Given the description of an element on the screen output the (x, y) to click on. 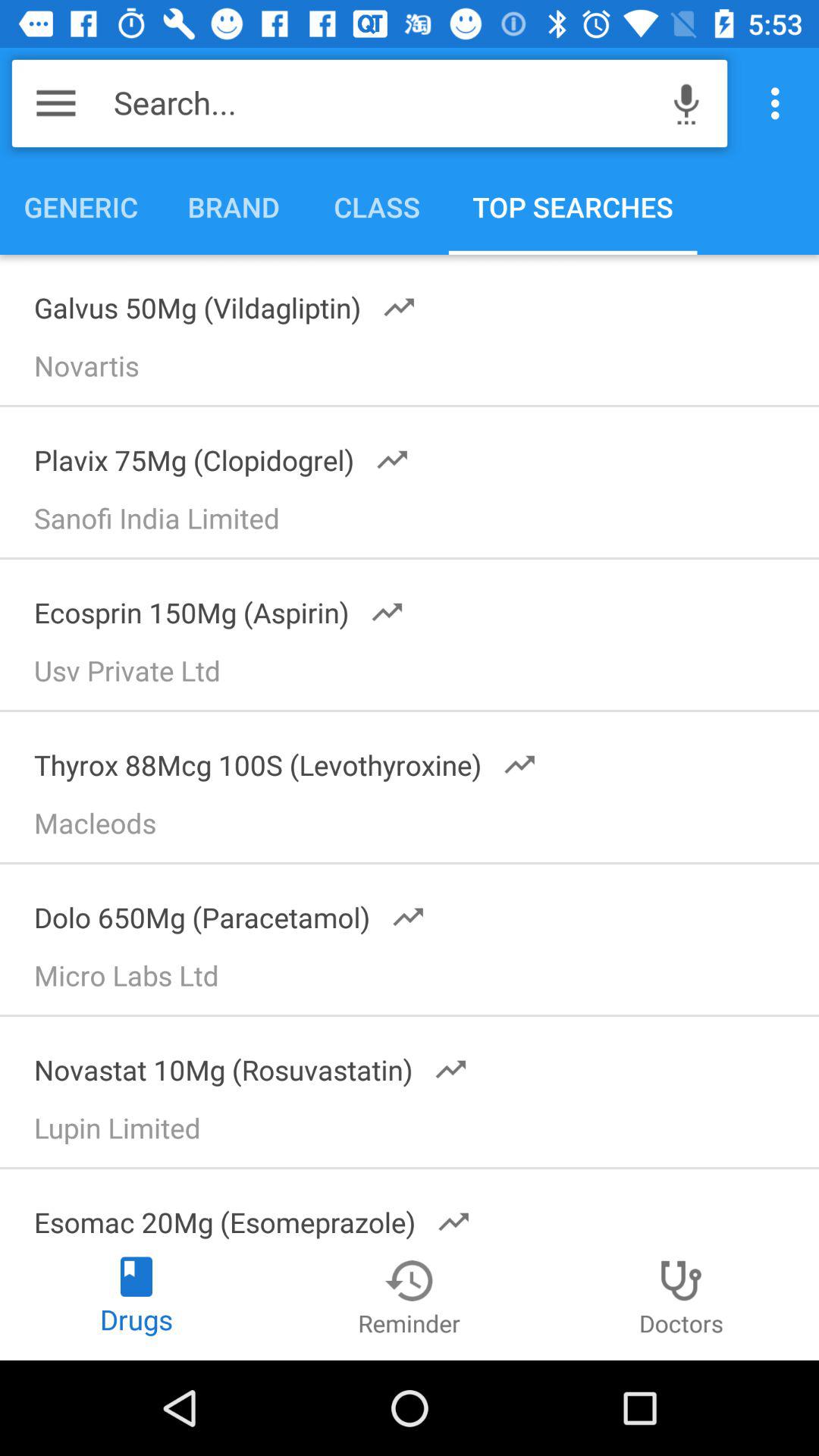
scroll until thyrox 88mcg 100s (275, 759)
